Given the description of an element on the screen output the (x, y) to click on. 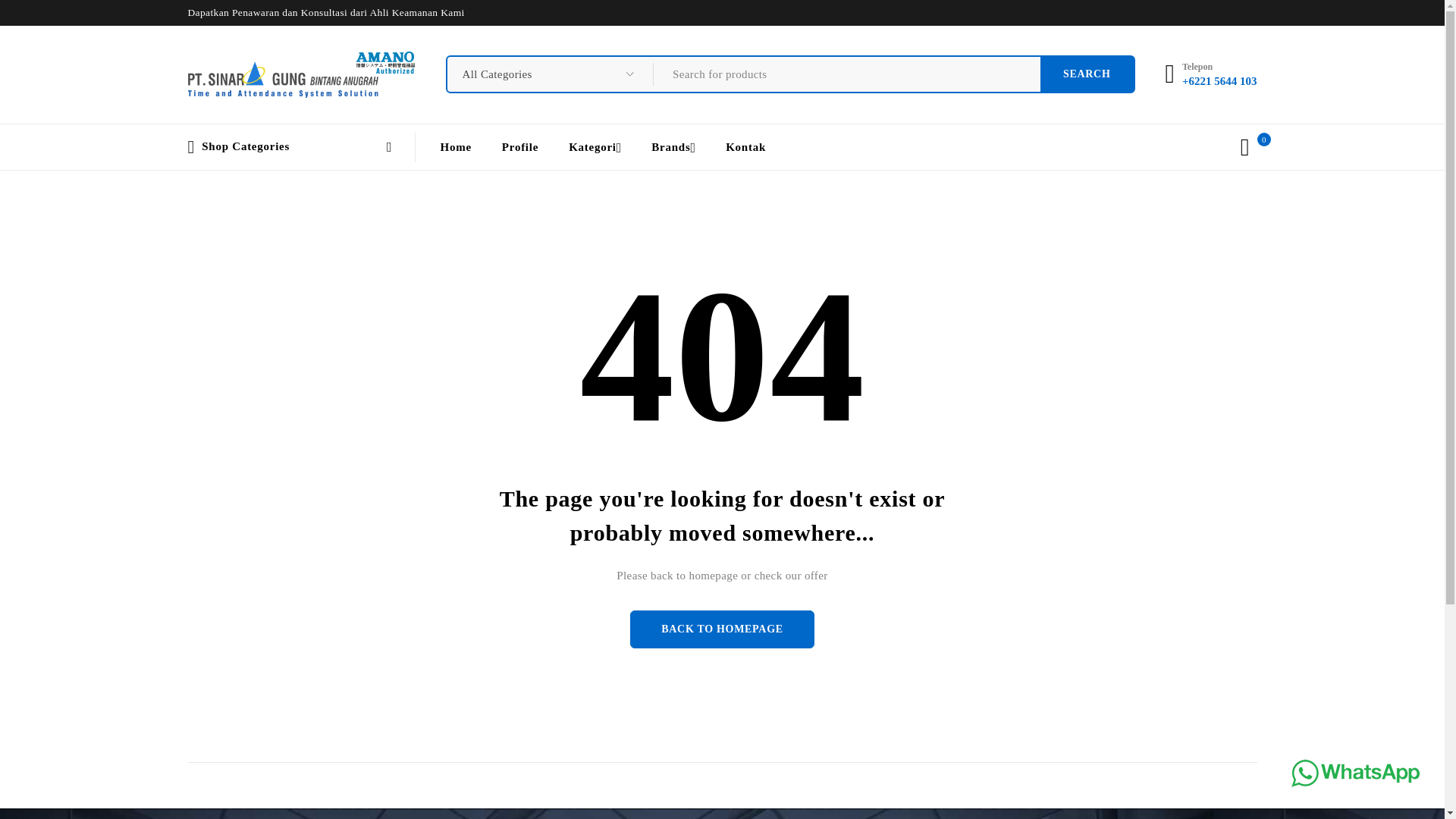
Profile (520, 146)
Home (454, 146)
Search (1087, 73)
Search (1087, 73)
Wishlist (1245, 146)
Kategori (592, 146)
Search (1087, 73)
Ecomall (300, 74)
